Given the description of an element on the screen output the (x, y) to click on. 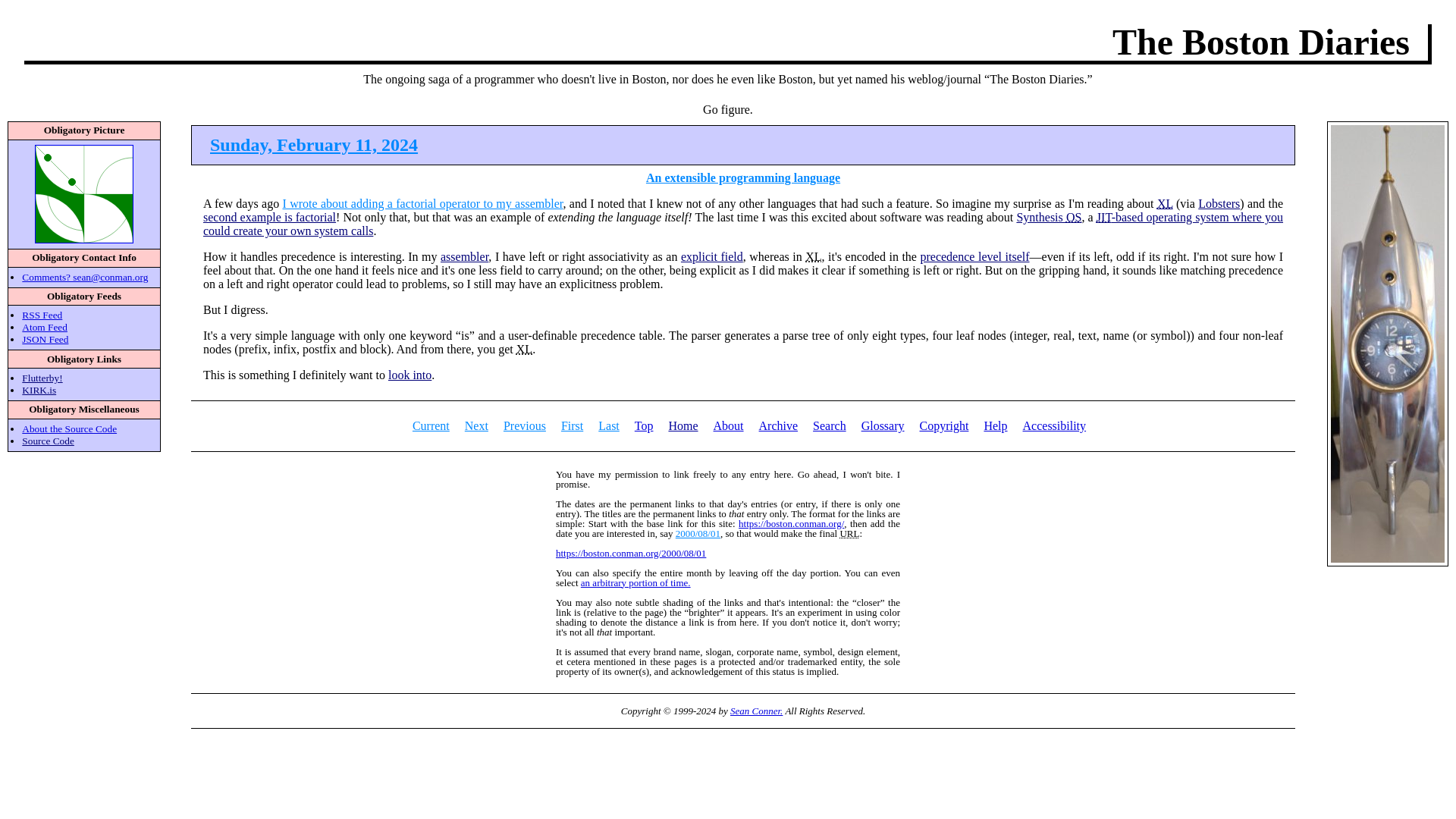
Saturday, Debtember 04, 1999 (571, 425)
assembler (464, 256)
Next (475, 425)
Search (828, 425)
explicit field (711, 256)
eXtensible Language (524, 349)
XL (1165, 203)
Source Code (47, 440)
Glossary (882, 425)
Wednesday, February 14, 2024 (475, 425)
